Given the description of an element on the screen output the (x, y) to click on. 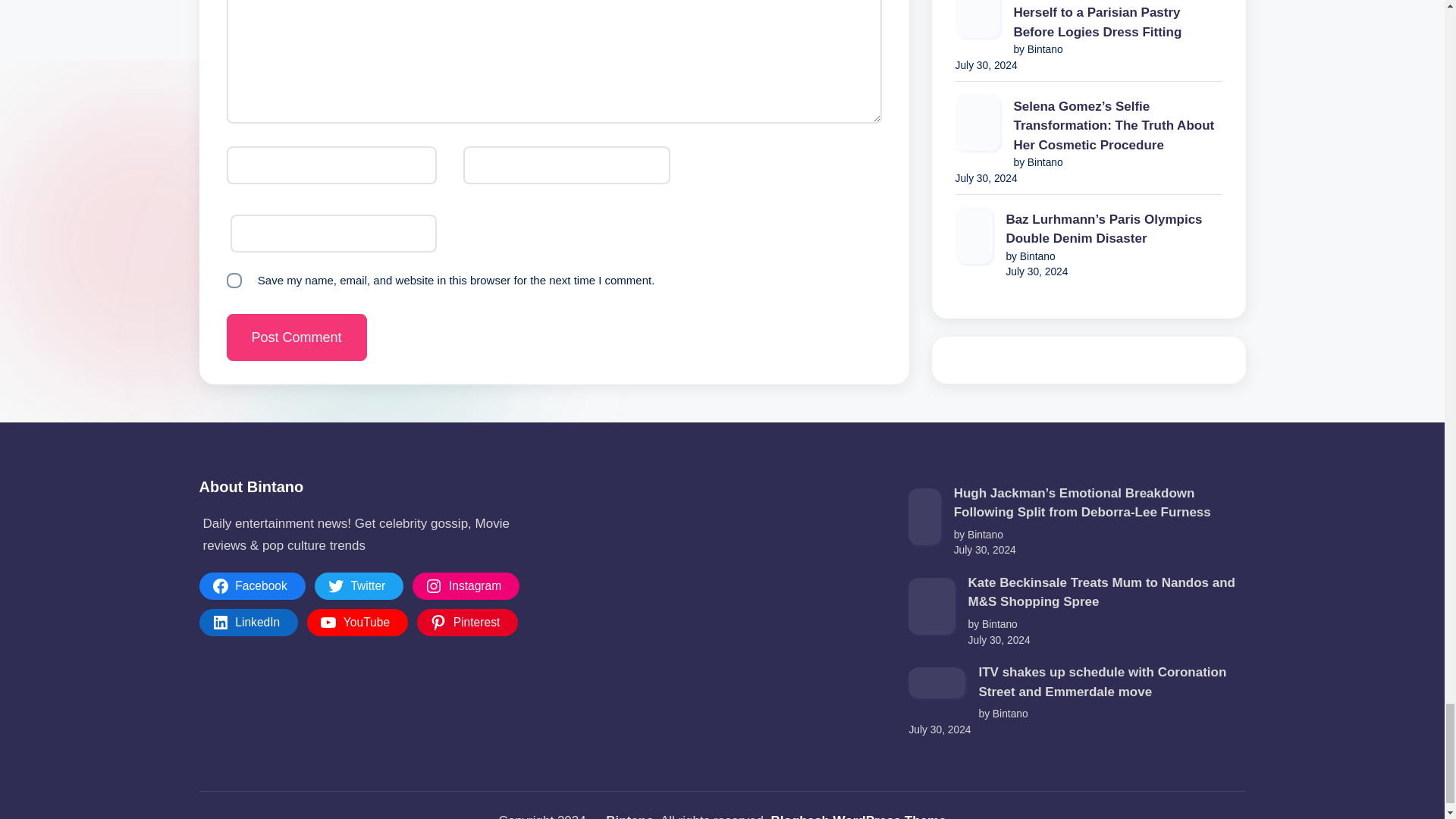
Post Comment (295, 337)
yes (233, 280)
Post Comment (295, 337)
